Given the description of an element on the screen output the (x, y) to click on. 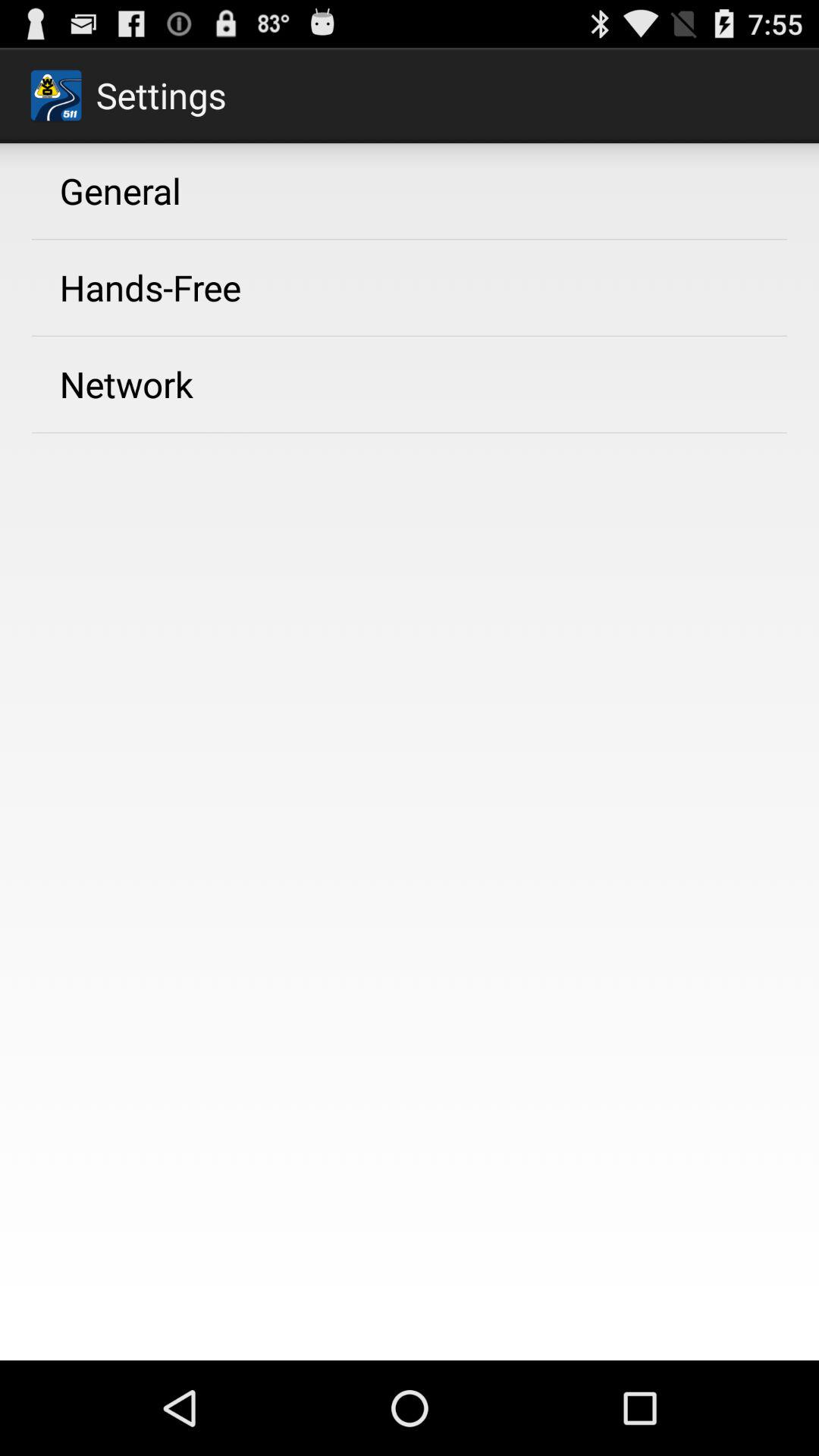
flip to the hands-free (150, 287)
